Given the description of an element on the screen output the (x, y) to click on. 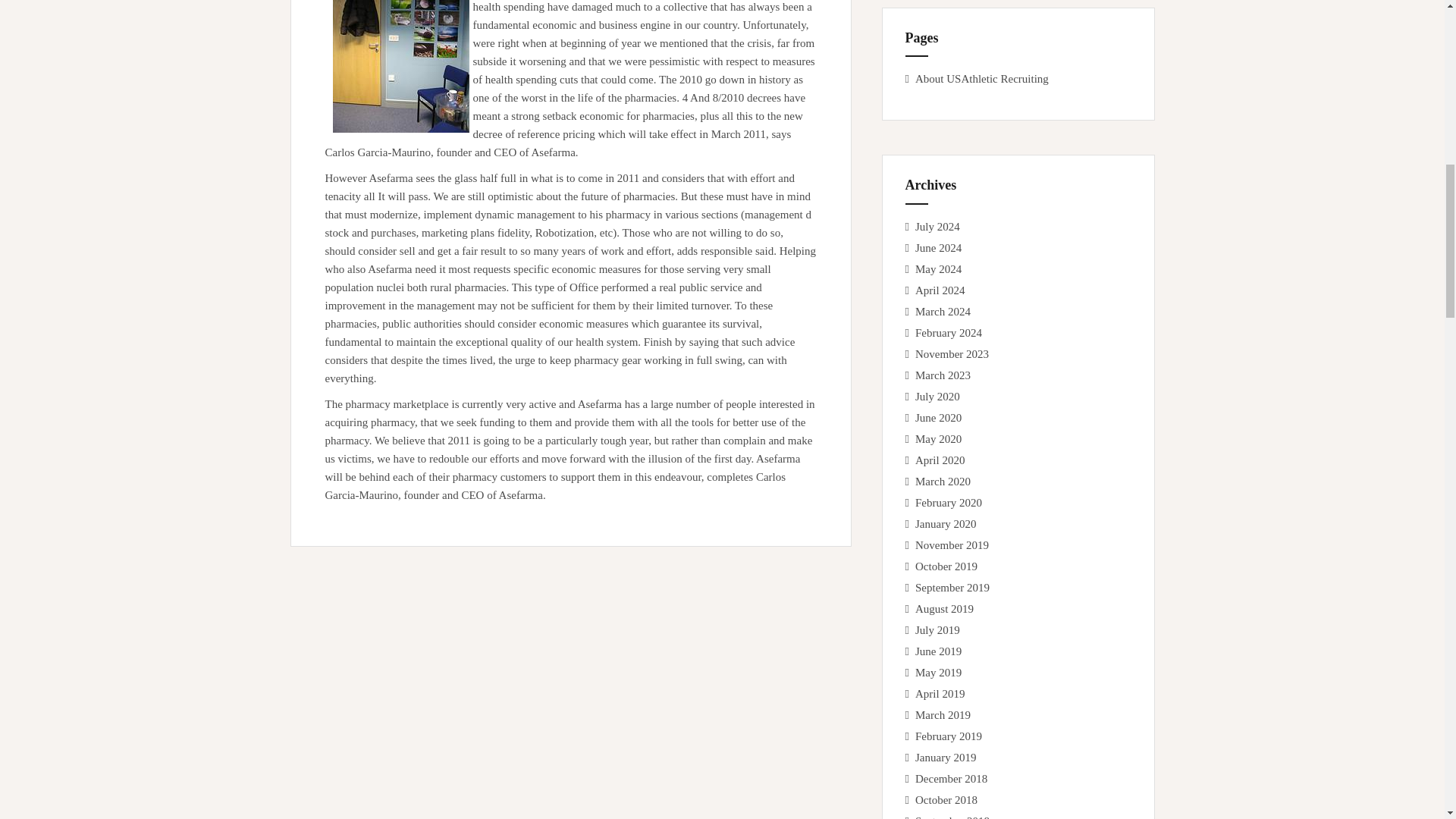
July 2020 (937, 396)
About USAthletic Recruiting (981, 78)
March 2024 (943, 311)
July 2019 (937, 630)
April 2024 (939, 290)
October 2018 (945, 799)
February 2020 (948, 502)
June 2024 (937, 247)
February 2024 (948, 332)
October 2019 (945, 566)
December 2018 (951, 778)
June 2019 (937, 651)
February 2019 (948, 736)
June 2020 (937, 417)
July 2024 (937, 226)
